Given the description of an element on the screen output the (x, y) to click on. 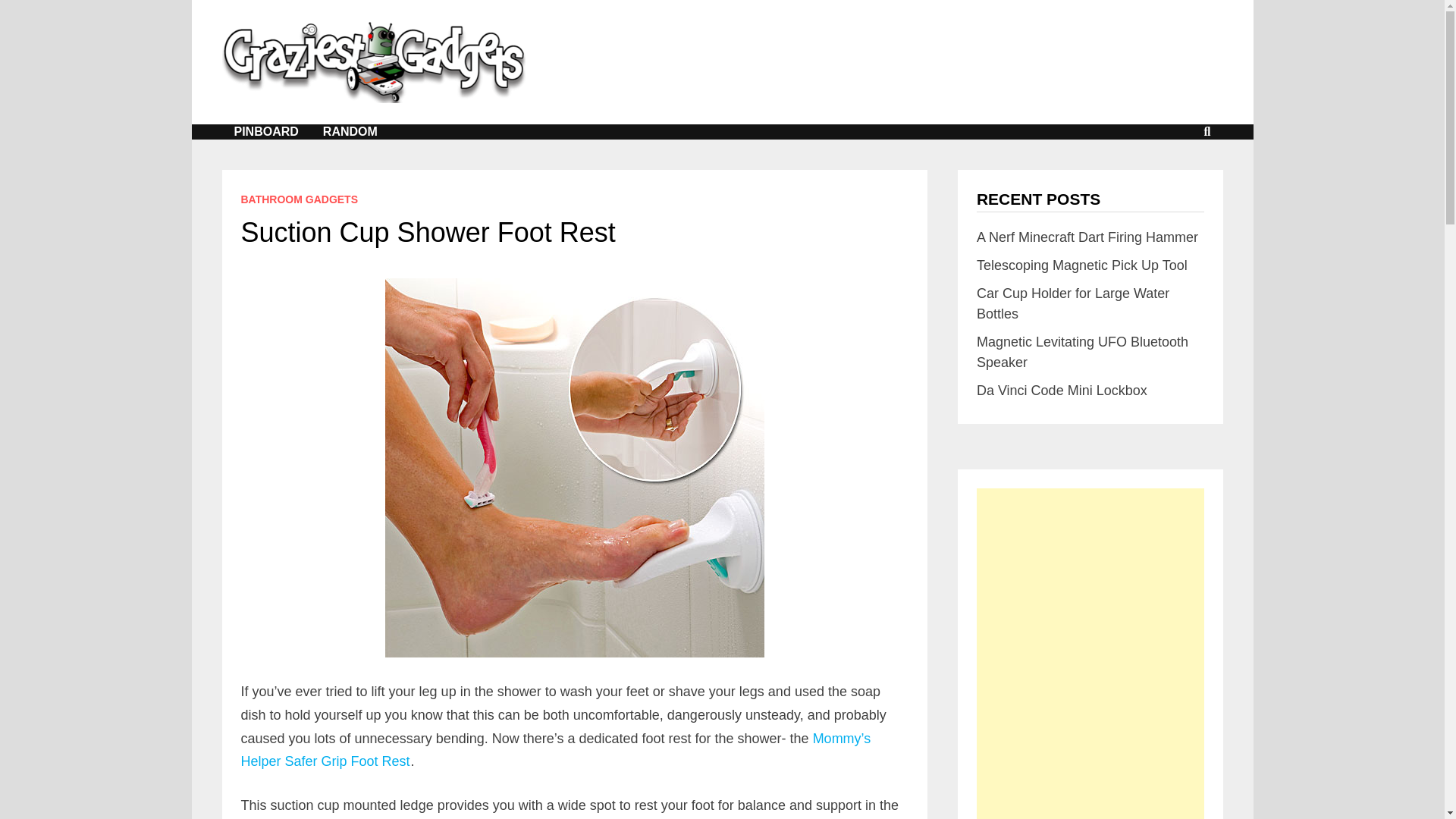
PINBOARD (265, 131)
BATHROOM GADGETS (299, 199)
RANDOM (350, 131)
